Given the description of an element on the screen output the (x, y) to click on. 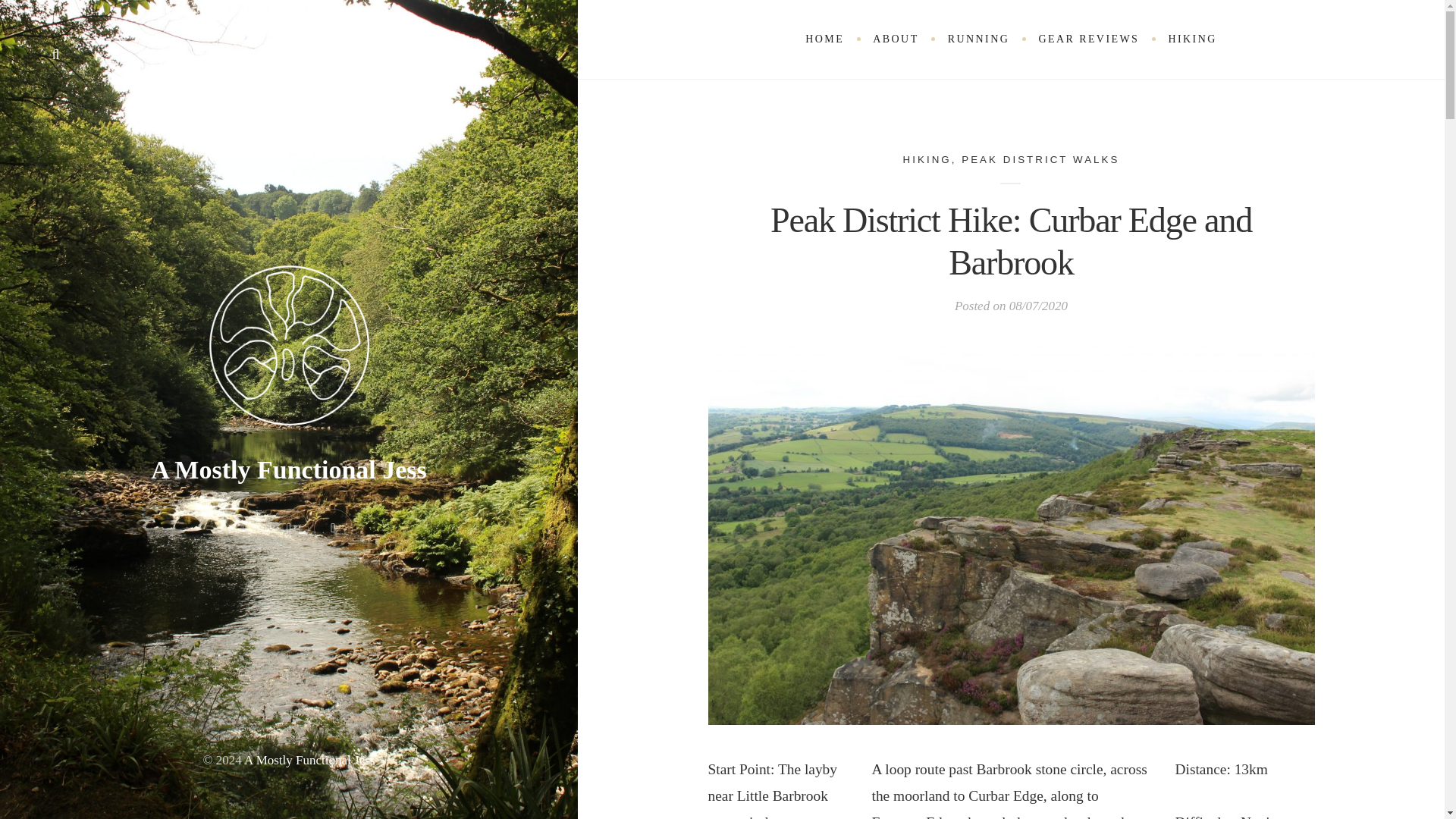
GEAR REVIEWS (1088, 38)
RUNNING (979, 38)
HOME (824, 38)
HIKING (927, 158)
A Mostly Functional Jess (288, 469)
HIKING (1191, 38)
ABOUT (896, 38)
PEAK DISTRICT WALKS (1039, 158)
A Mostly Functional Jess (309, 759)
